Given the description of an element on the screen output the (x, y) to click on. 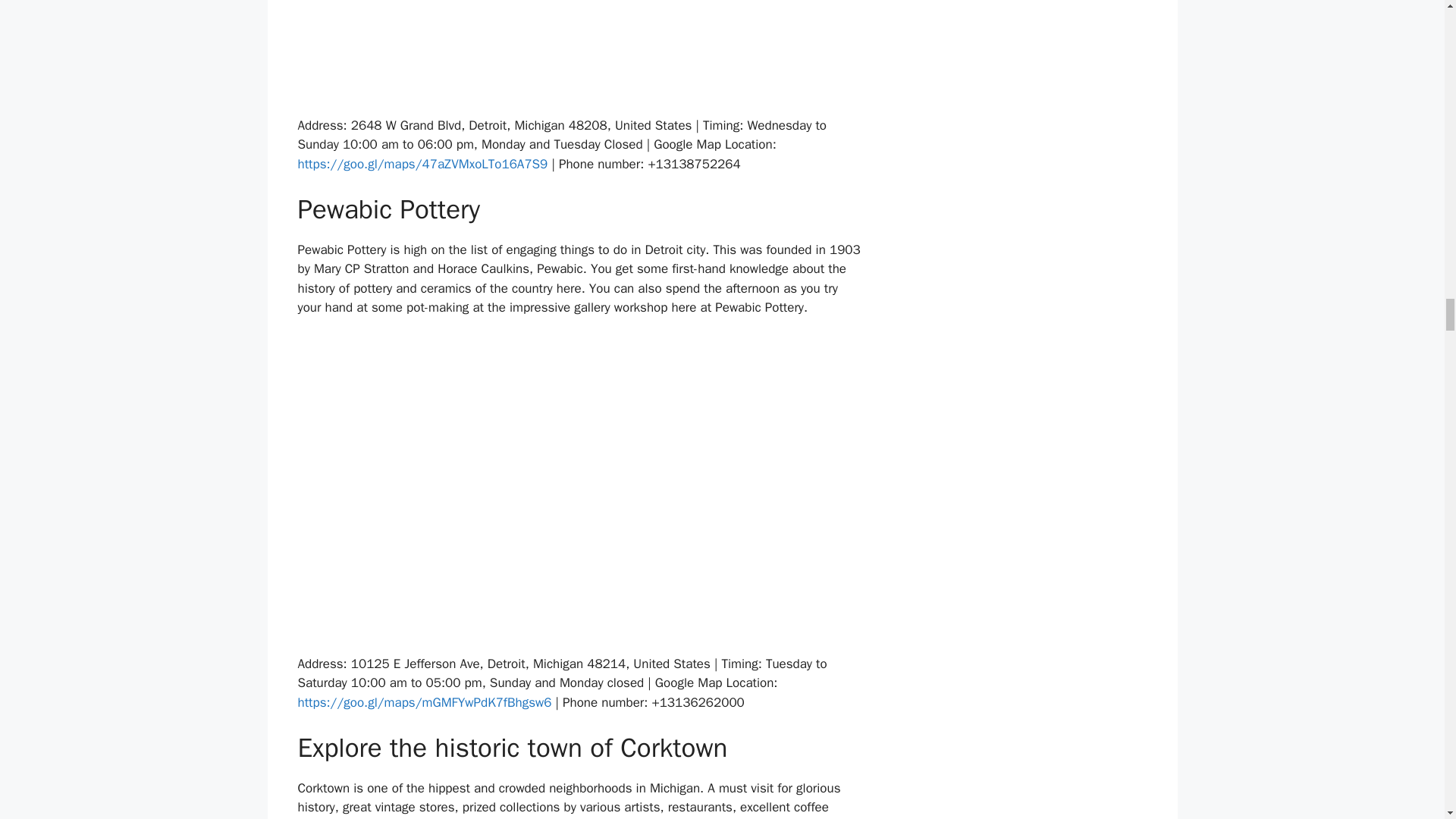
Hitsville U.S.A., Motown Museum, Detroit, Michigan (579, 58)
